Given the description of an element on the screen output the (x, y) to click on. 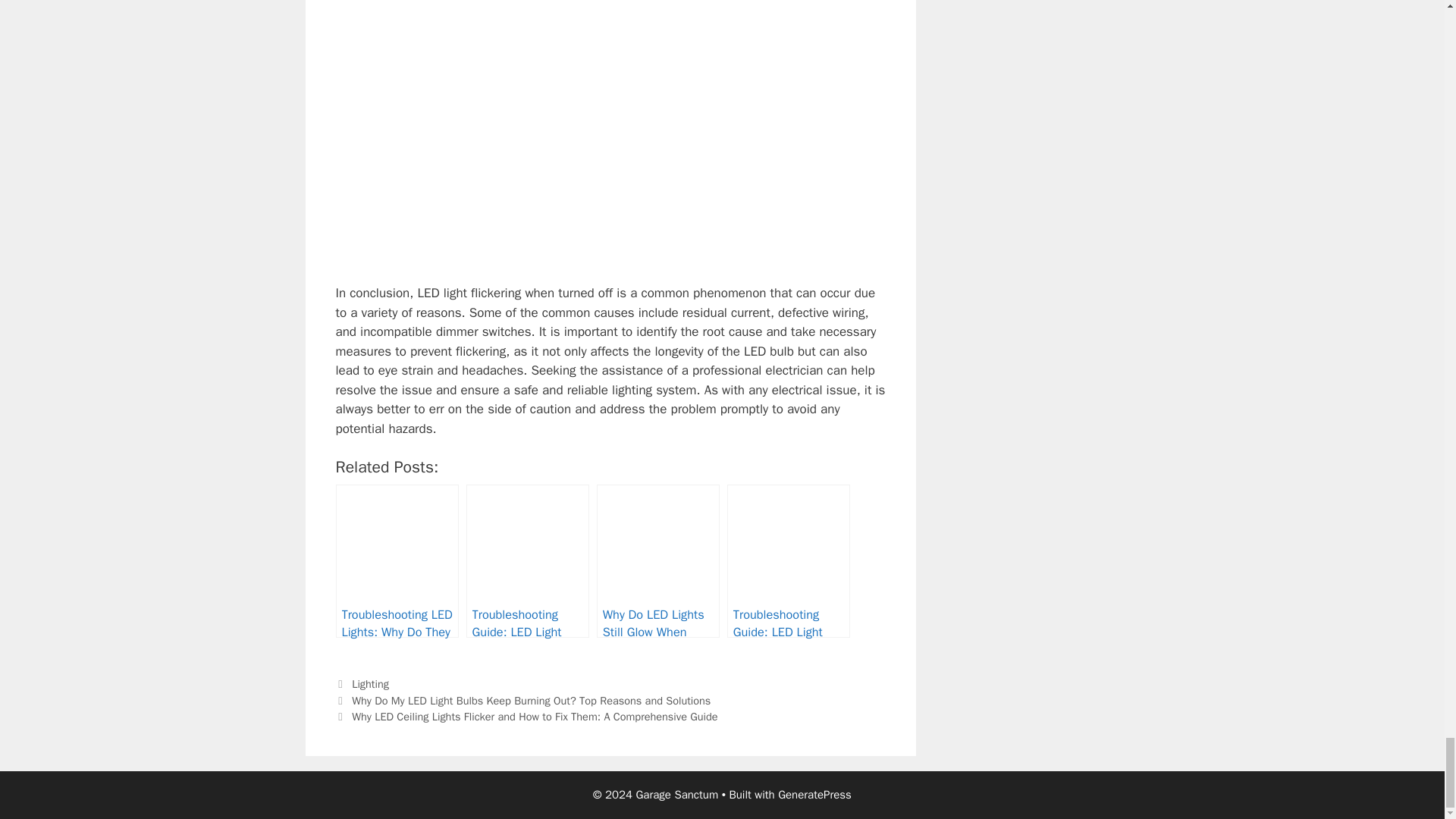
GeneratePress (814, 794)
Why Do LED Lights Still Glow When Turned Off? Explained (657, 561)
Why Do LED Lights Still Glow When Turned Off? Explained (657, 561)
Lighting (370, 684)
